Given the description of an element on the screen output the (x, y) to click on. 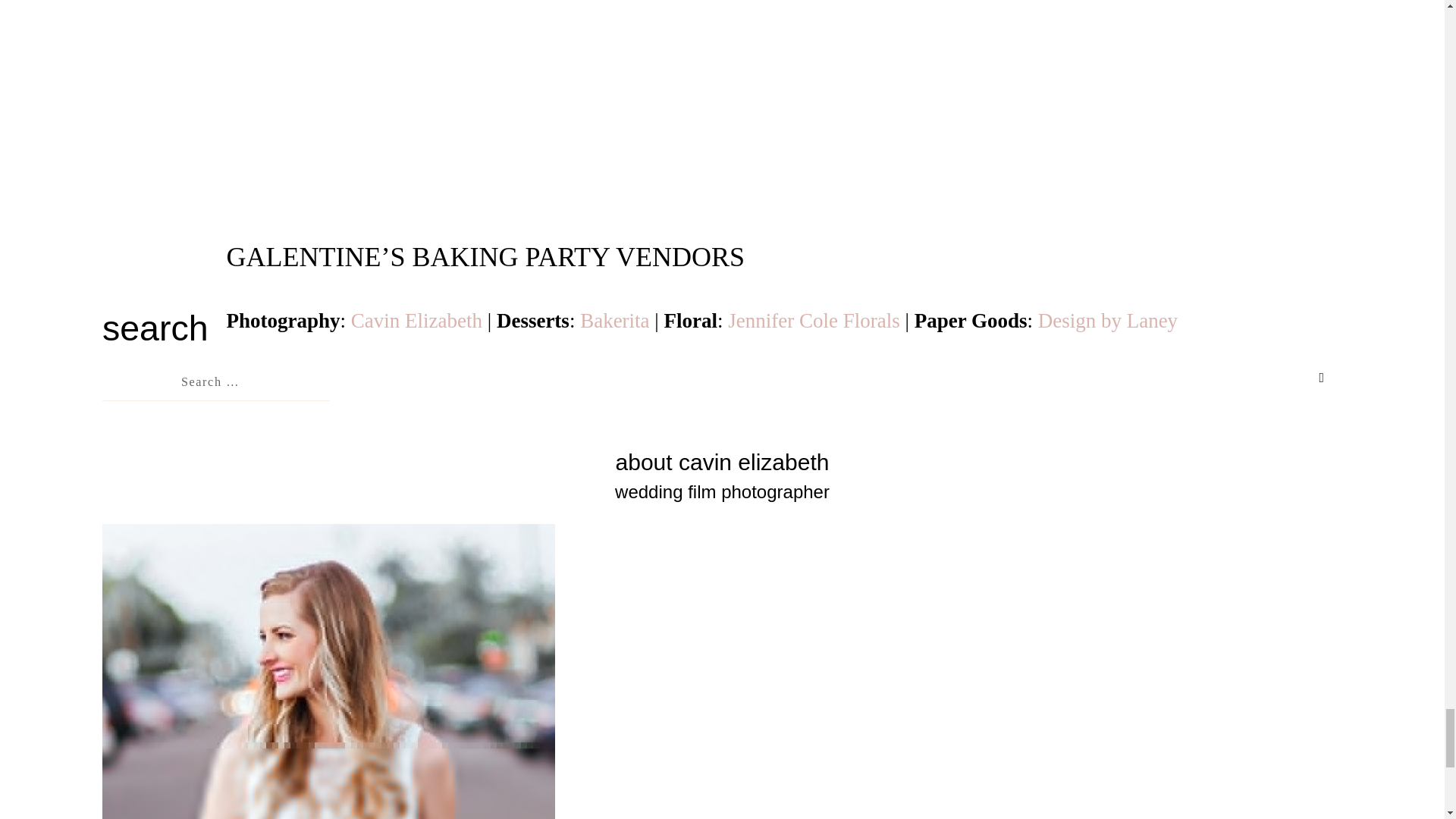
Bakerita (614, 320)
Design by Laney (1107, 320)
Jennifer Cole Florals (813, 320)
Cavin Elizabeth (415, 320)
